Given the description of an element on the screen output the (x, y) to click on. 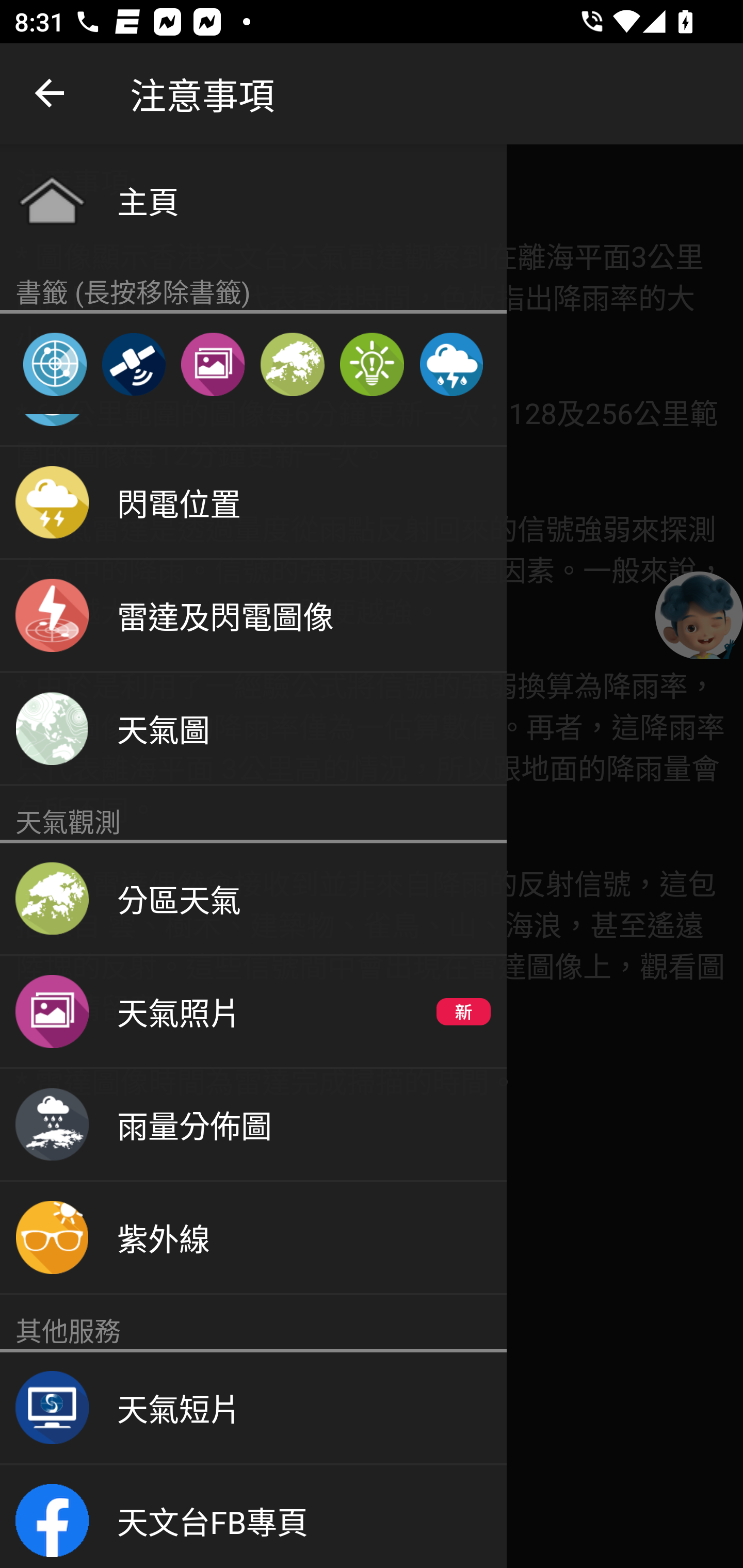
向上瀏覽 (50, 93)
主頁 (253, 199)
雷達圖像 (54, 364)
衛星圖像 (133, 364)
天氣照片 (212, 364)
分區天氣 (292, 364)
天氣提示 (371, 364)
定點降雨及閃電預報 (451, 364)
閃電位置 (253, 502)
雷達及閃電圖像 (253, 615)
天氣圖 (253, 728)
分區天氣 (253, 899)
天氣照片 新功能 (253, 1012)
雨量分佈圖 (253, 1125)
紫外線 (253, 1238)
天氣短片 (253, 1408)
天文台FB專頁 (253, 1516)
